Given the description of an element on the screen output the (x, y) to click on. 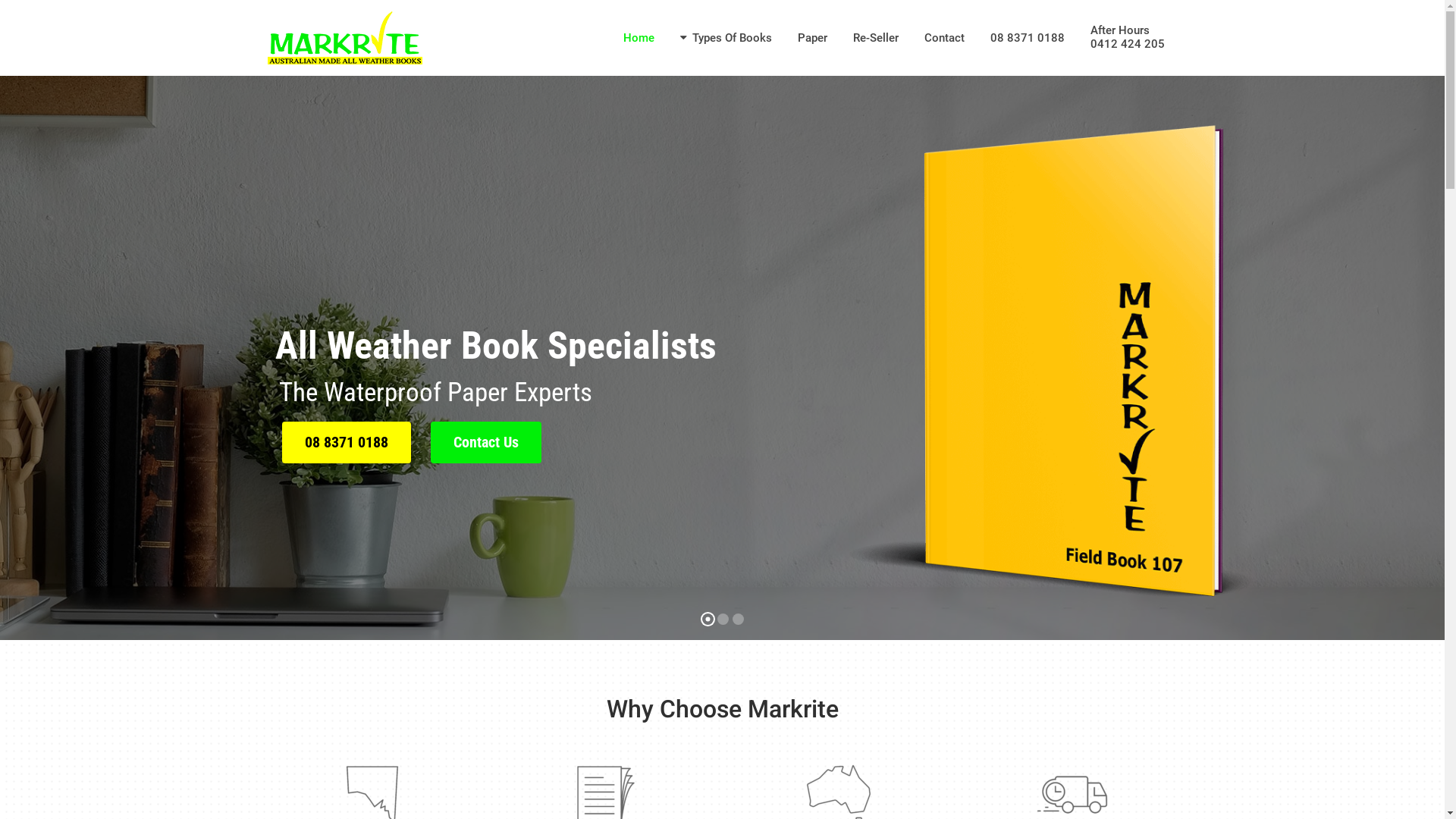
After Hours
0412 424 205 Element type: text (1126, 43)
Contact Element type: text (944, 37)
08 8371 0188 Element type: text (1026, 37)
Contact Us Element type: text (485, 442)
Re-Seller Element type: text (875, 37)
Paper Element type: text (811, 37)
08 8371 0188 Element type: text (346, 442)
Types Of Books Element type: text (725, 37)
Home Element type: text (637, 37)
